Given the description of an element on the screen output the (x, y) to click on. 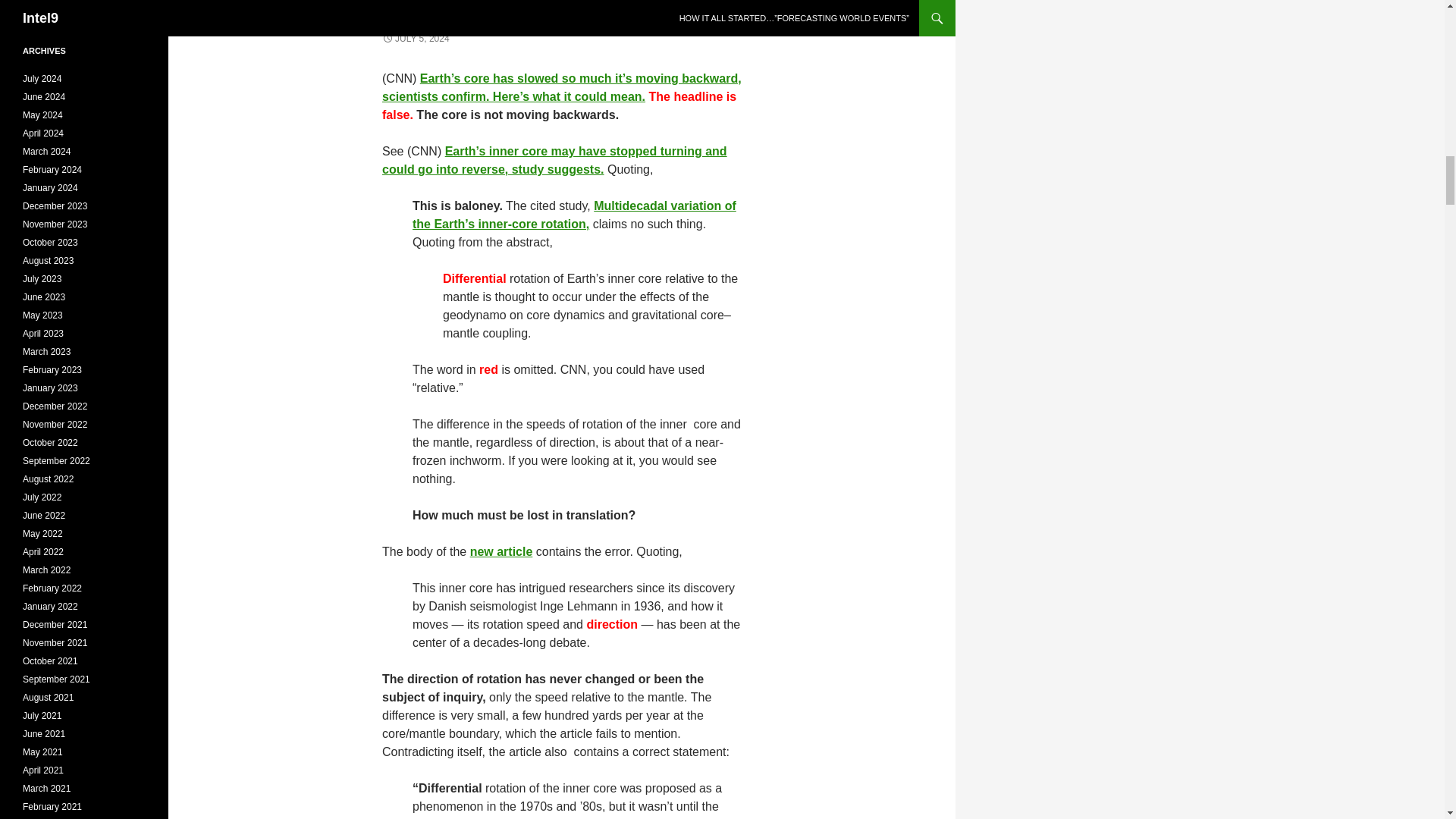
JULY 5, 2024 (415, 38)
new article (501, 551)
